Given the description of an element on the screen output the (x, y) to click on. 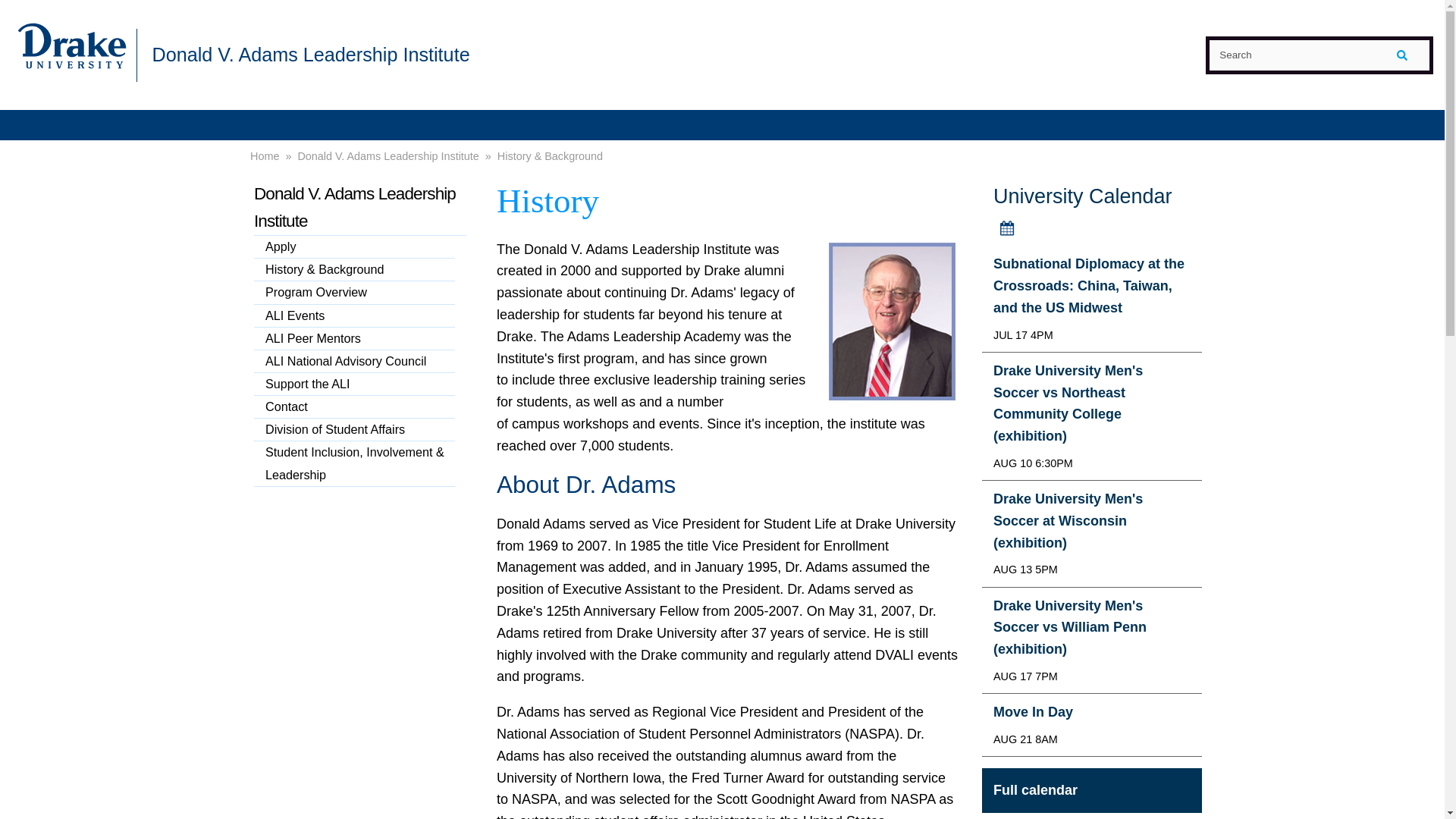
Home (264, 156)
Search (1318, 55)
Donald V. Adams Leadership Institute (309, 54)
Search (1318, 55)
ALI Events (353, 315)
Apply (353, 246)
Donald V. Adams Leadership Institute (359, 207)
Program Overview (353, 292)
Donald V. Adams Leadership Institute (388, 156)
